Given the description of an element on the screen output the (x, y) to click on. 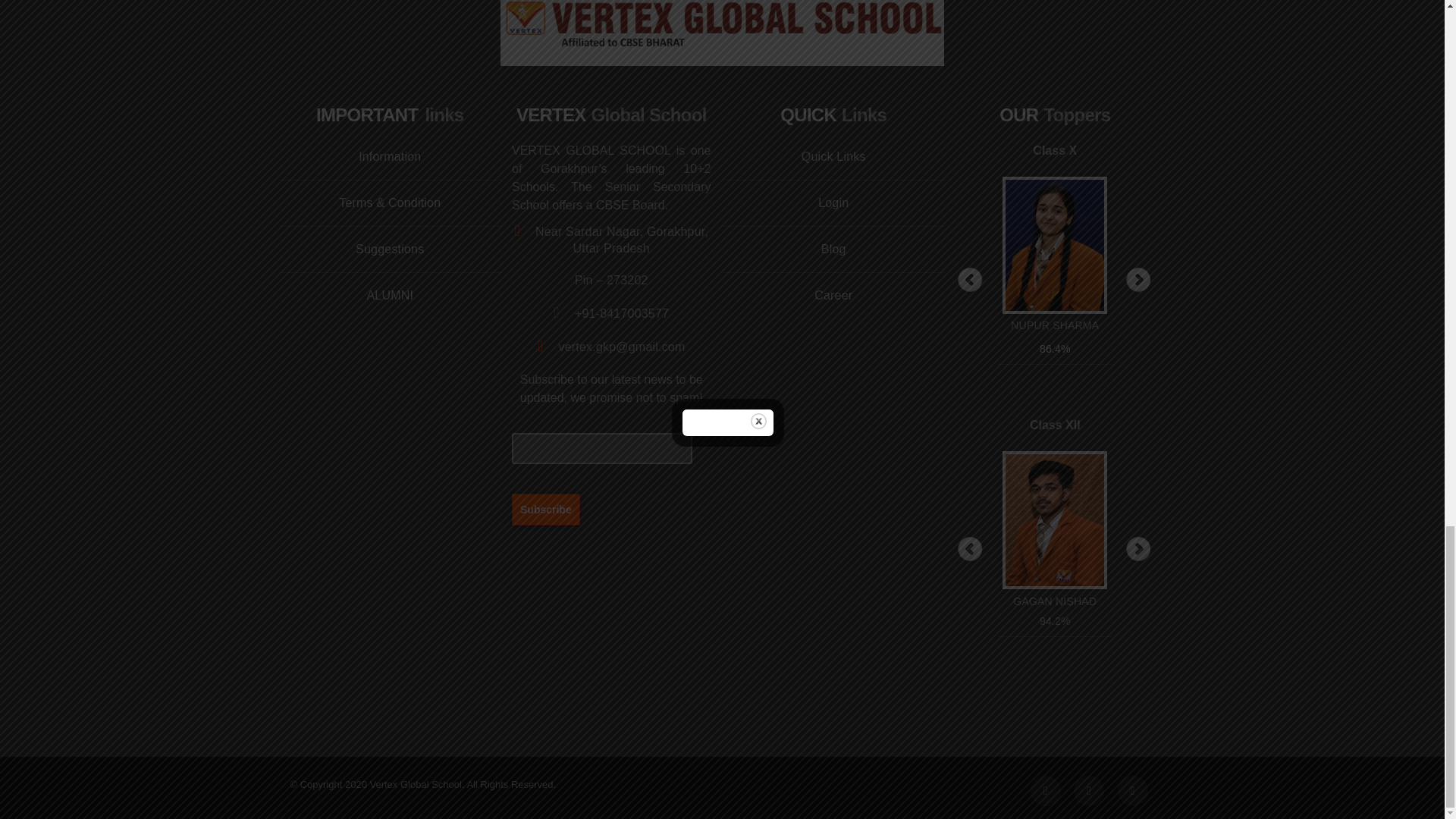
Subscribe (545, 508)
